Given the description of an element on the screen output the (x, y) to click on. 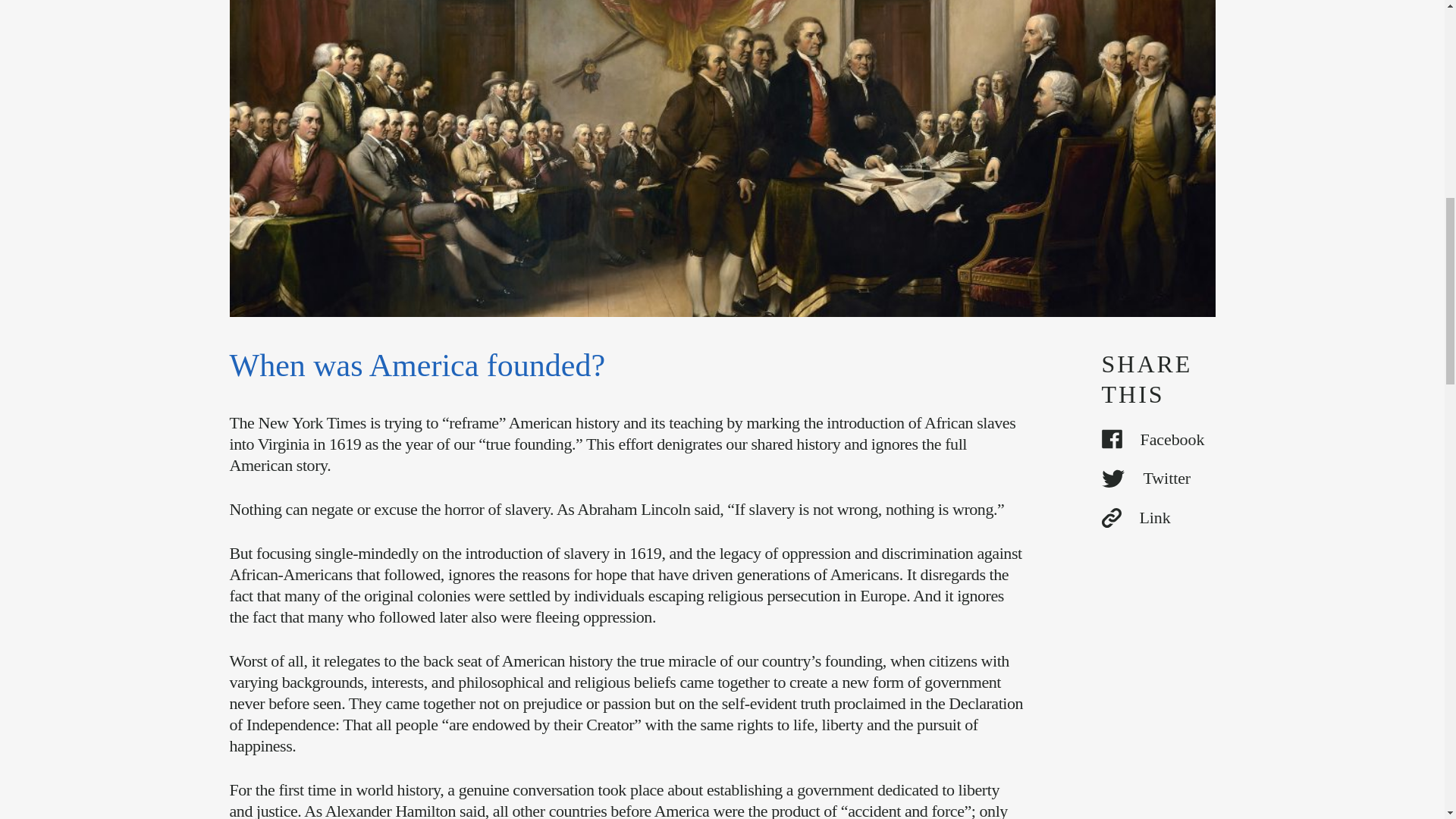
Link (1157, 517)
Facebook (1157, 439)
Twitter (1157, 477)
